Given the description of an element on the screen output the (x, y) to click on. 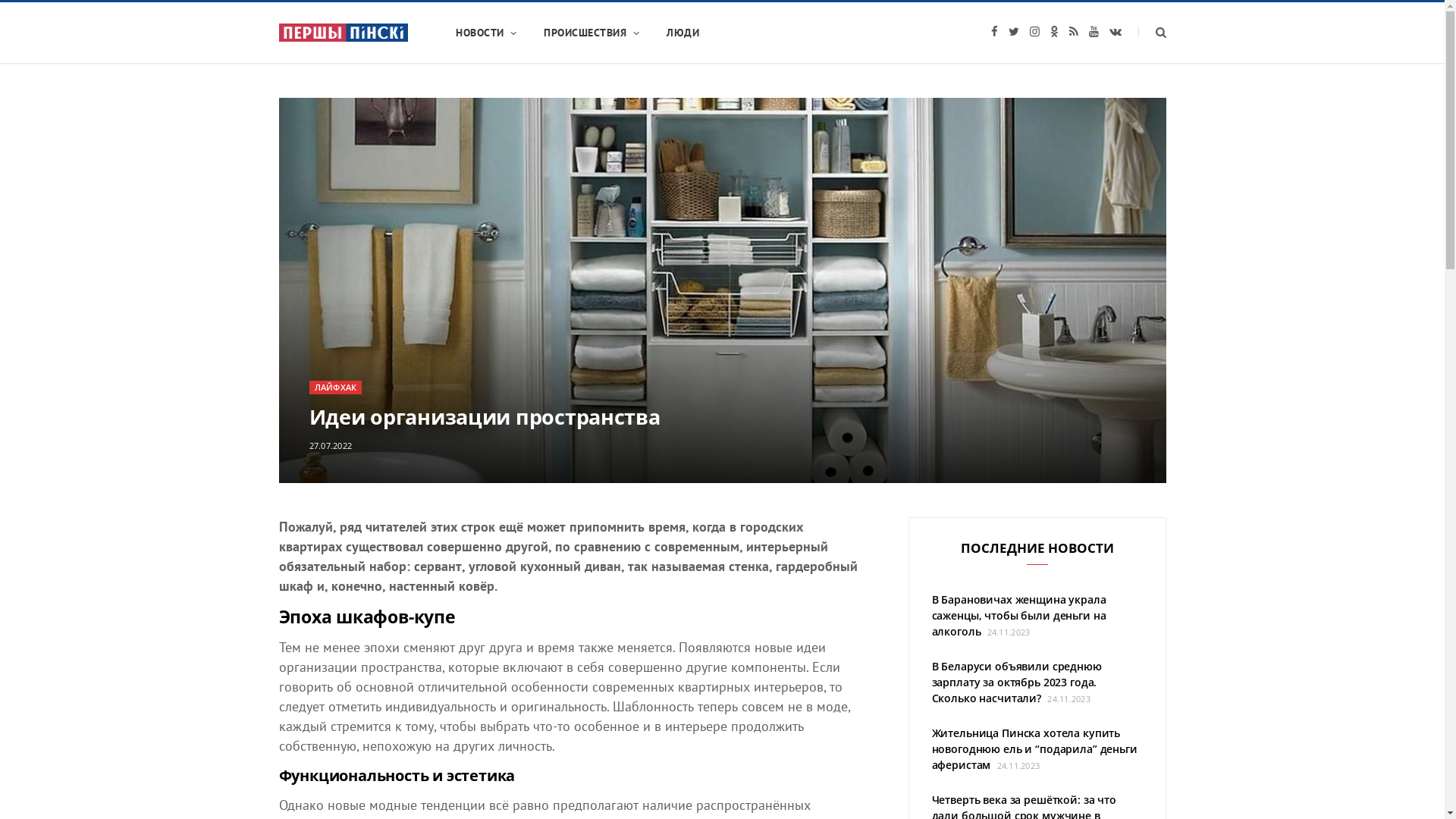
24.11.2023 Element type: text (1016, 765)
27.07.2022 Element type: text (330, 445)
24.11.2023 Element type: text (1006, 631)
Instagram Element type: text (1034, 31)
24.11.2023 Element type: text (1067, 698)
Twitter Element type: text (1013, 31)
RSS Element type: text (1073, 31)
YouTube Element type: text (1093, 31)
Odnoklassniki Element type: text (1053, 31)
Facebook Element type: text (993, 31)
